Given the description of an element on the screen output the (x, y) to click on. 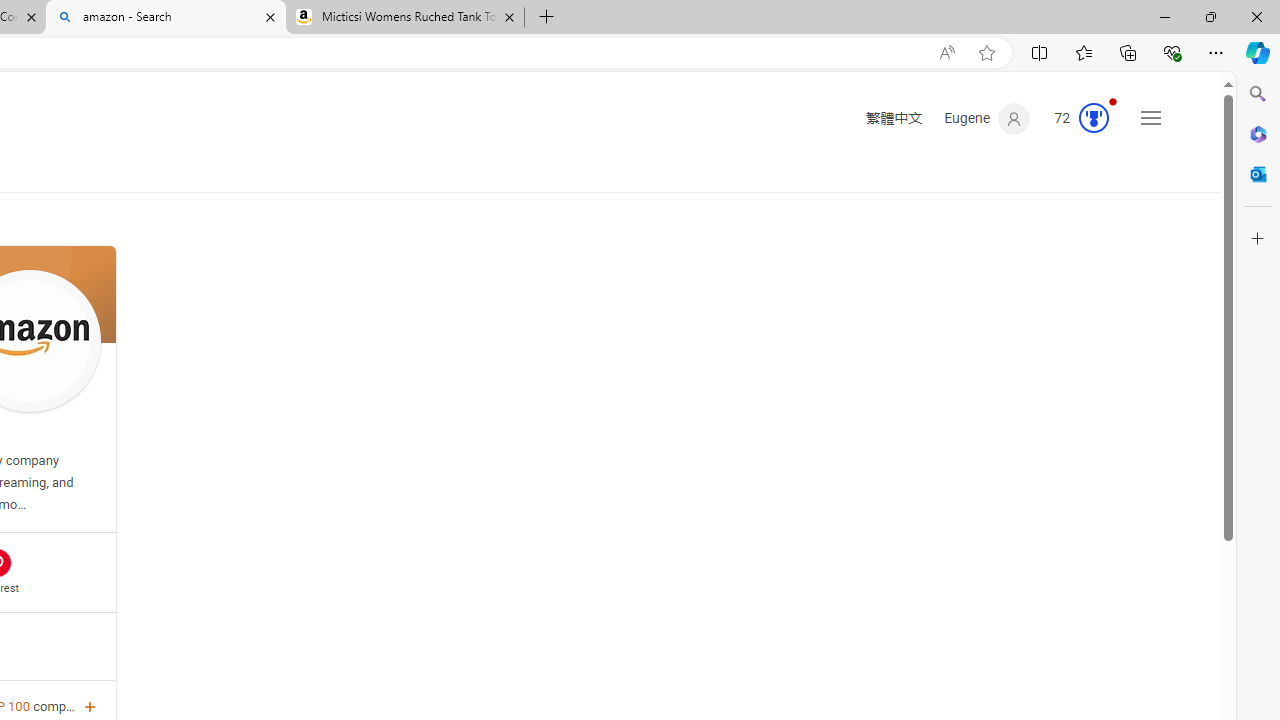
Settings and quick links (1150, 117)
